Given the description of an element on the screen output the (x, y) to click on. 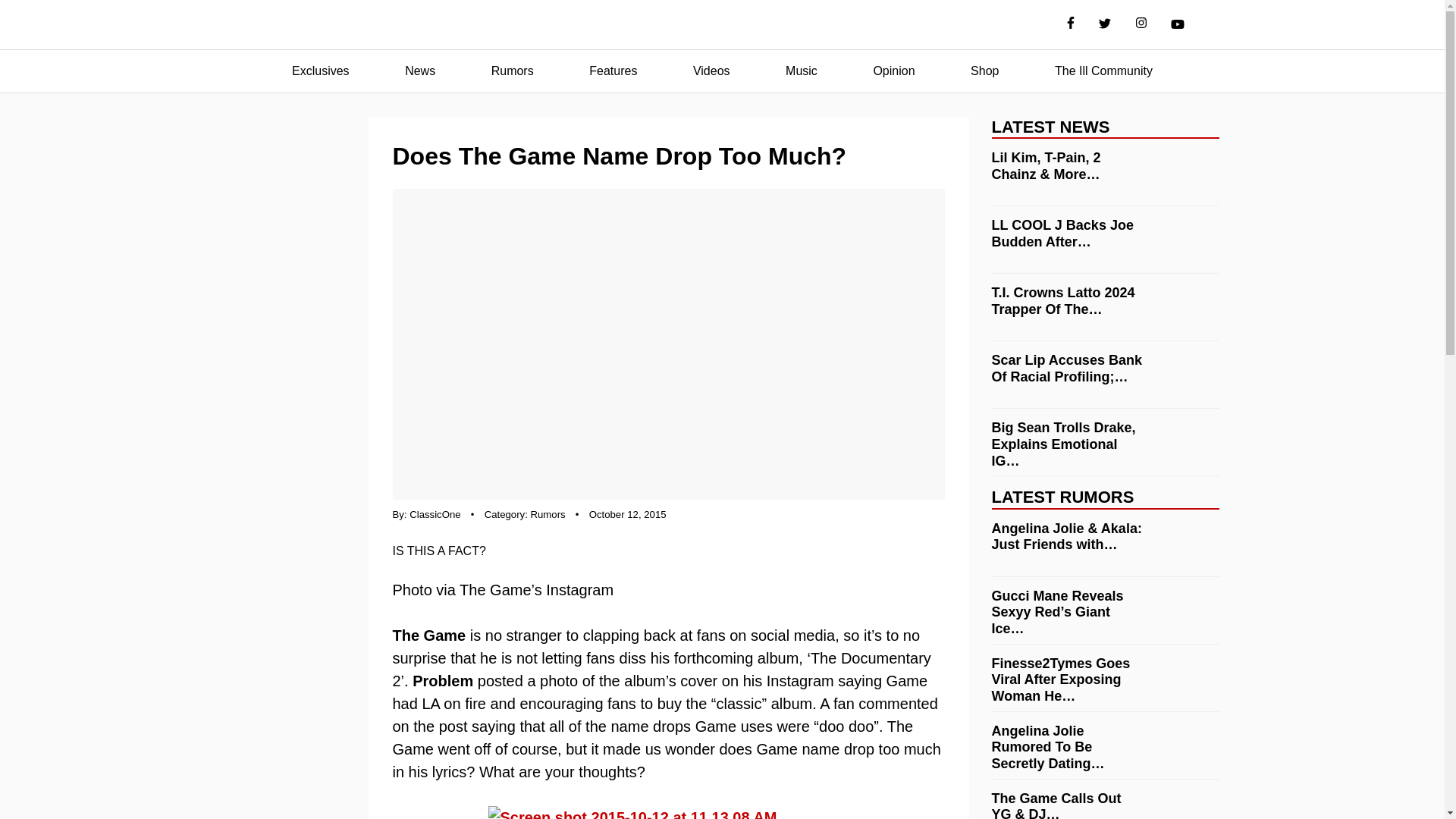
Music (801, 70)
October 12, 2015 (627, 514)
Shop (984, 70)
Opinion (893, 70)
News (419, 70)
Exclusives (320, 70)
ClassicOne (434, 514)
Rumors (512, 70)
Videos (711, 70)
Features (612, 70)
